Given the description of an element on the screen output the (x, y) to click on. 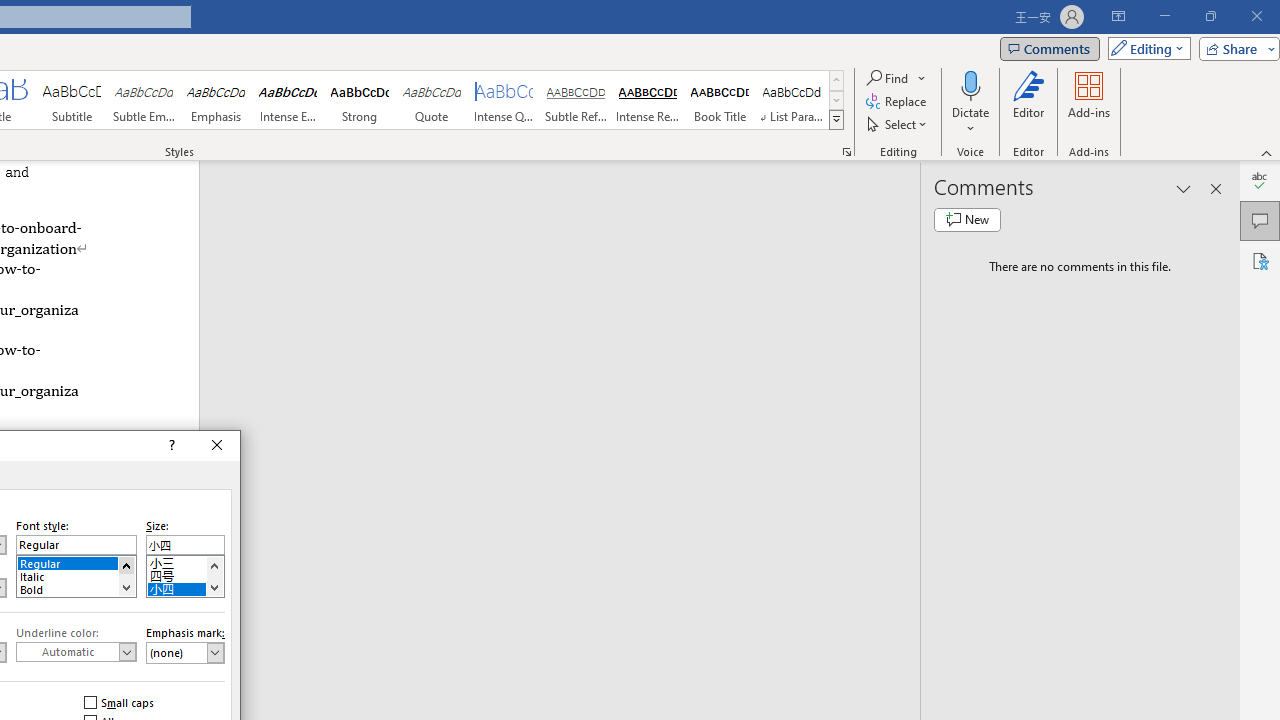
Small caps (120, 702)
AutomationID: 1797 (214, 576)
Emphasis (216, 100)
Intense Quote (504, 100)
Regular (75, 561)
Accessibility (1260, 260)
Intense Emphasis (287, 100)
RichEdit Control (185, 544)
